Given the description of an element on the screen output the (x, y) to click on. 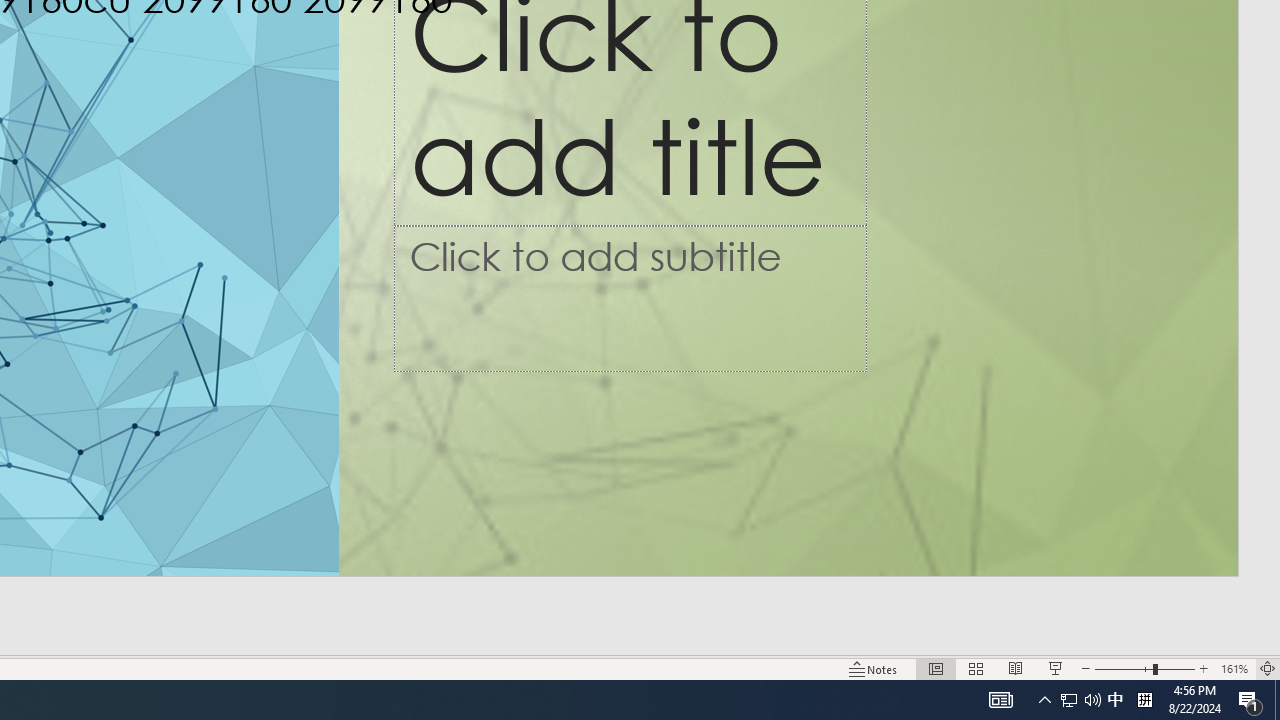
Zoom 161% (1234, 668)
